Given the description of an element on the screen output the (x, y) to click on. 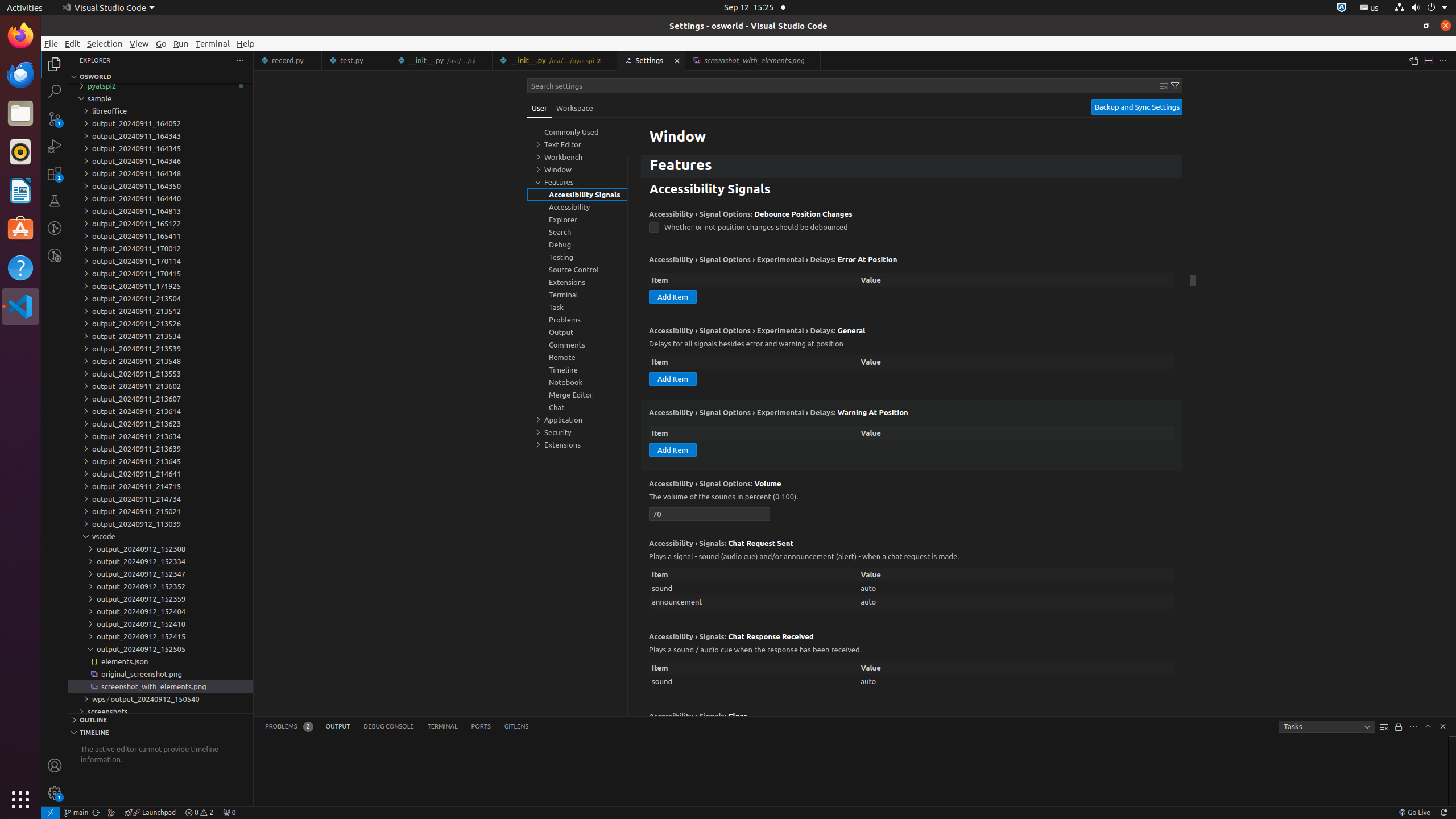
Window, group Element type: tree-item (577, 169)
Settings Element type: page-tab (651, 60)
Search (Ctrl+Shift+F) Element type: page-tab (54, 91)
output_20240911_213526 Element type: tree-item (160, 323)
Debug, group Element type: tree-item (577, 244)
